Given the description of an element on the screen output the (x, y) to click on. 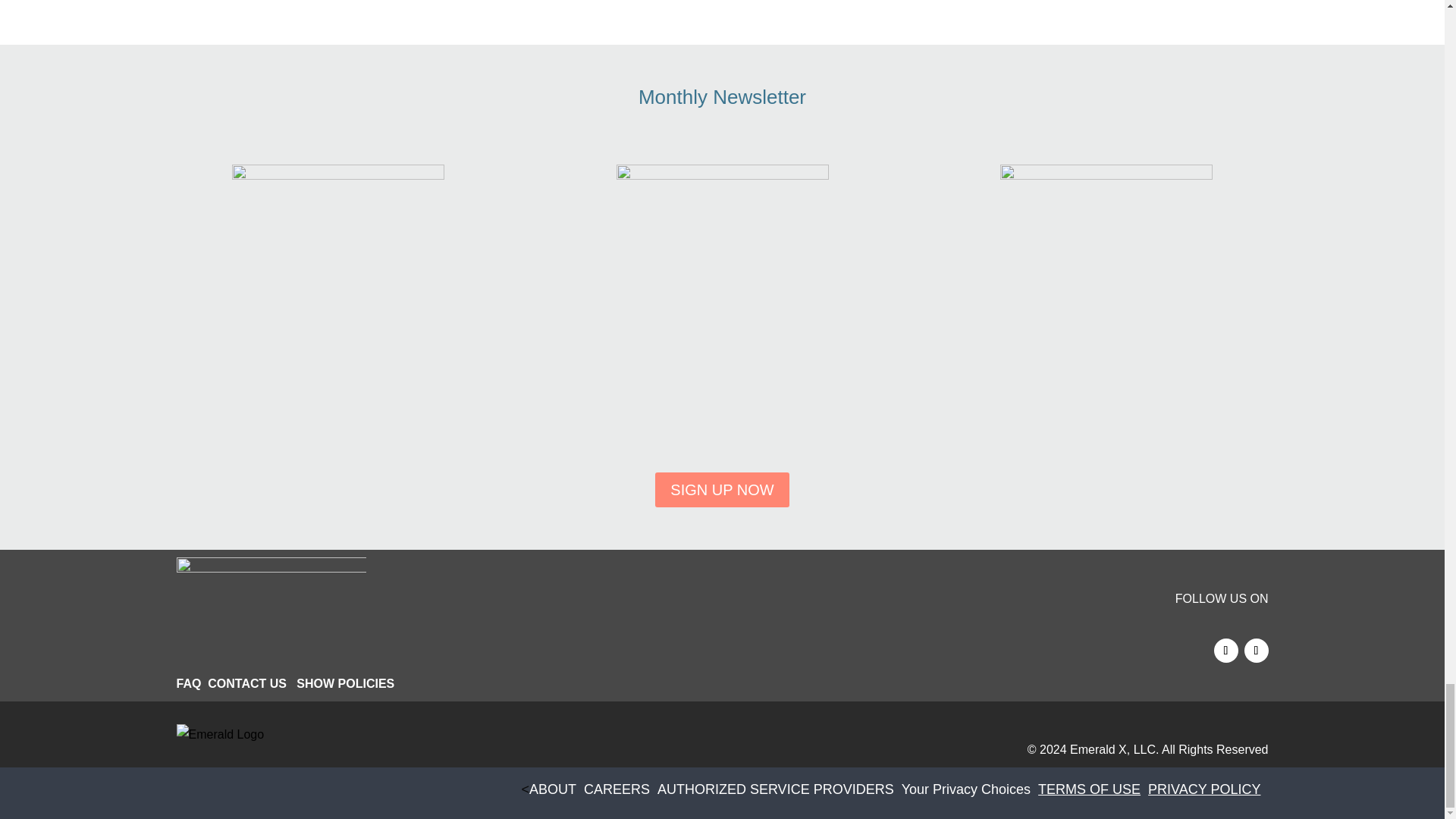
originalmiamibeachantiqueshow-logo (271, 607)
careers (620, 789)
authorized-service-providers (779, 789)
Follow on Instagram (1255, 650)
your-privacy-choices (969, 789)
about (556, 789)
Follow on Facebook (1224, 650)
